Given the description of an element on the screen output the (x, y) to click on. 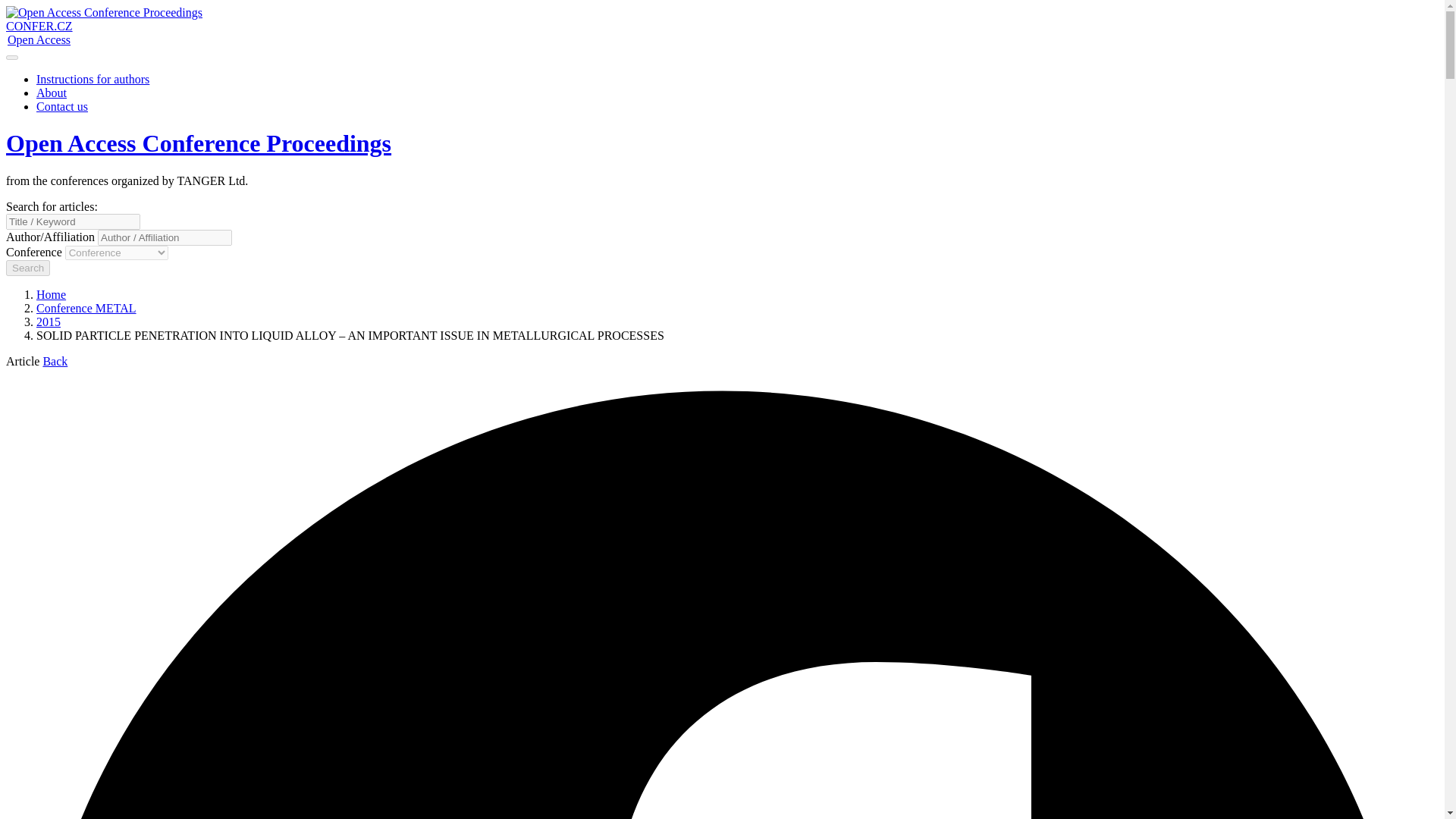
Search (27, 268)
2015 (48, 321)
Conference METAL (86, 308)
About (51, 92)
Contact us (61, 106)
Instructions for authors (92, 78)
Home (50, 294)
Open Access Conference Proceedings (198, 143)
Back (54, 360)
